Given the description of an element on the screen output the (x, y) to click on. 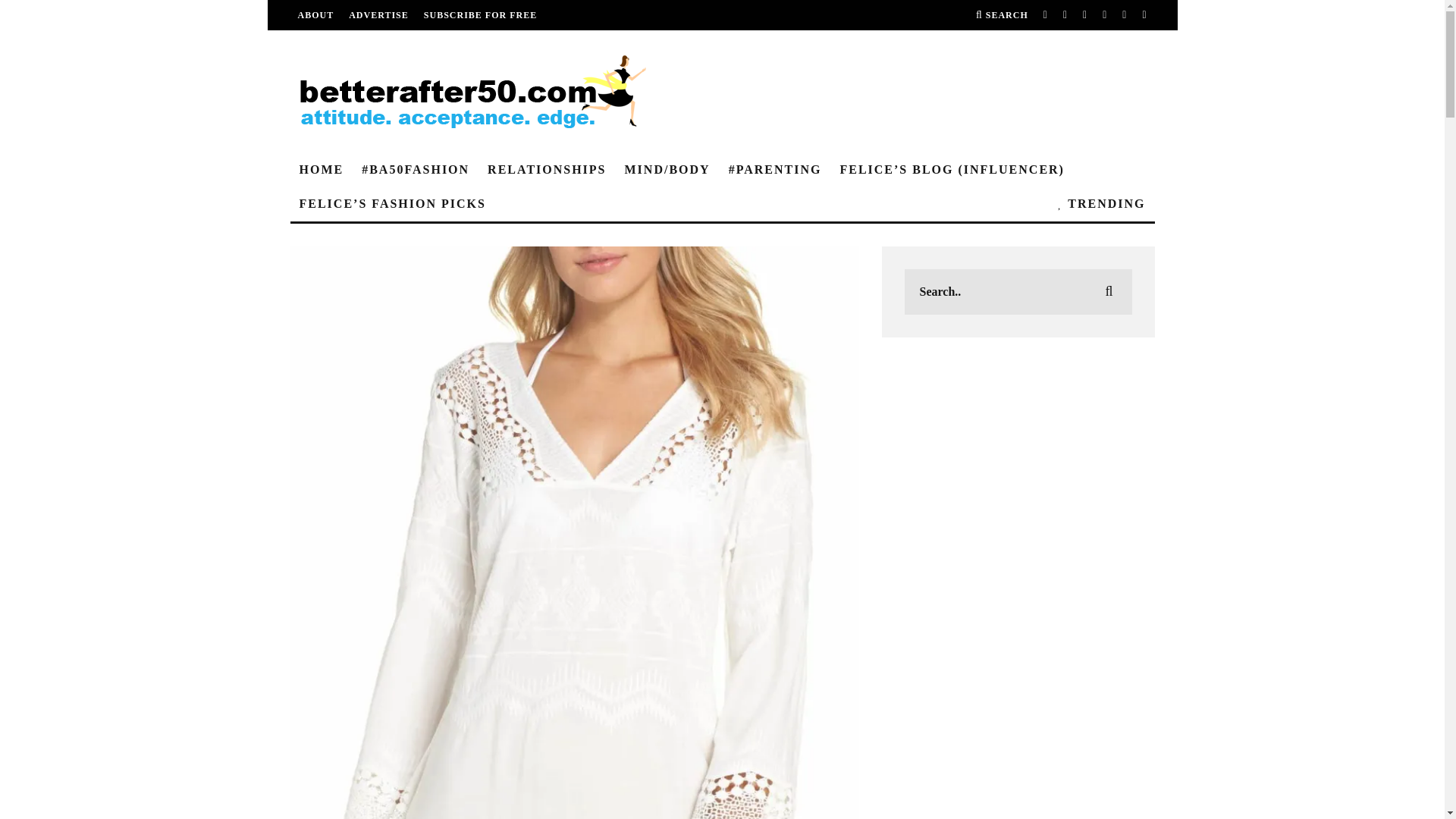
SUBSCRIBE FOR FREE (480, 15)
HOME (320, 170)
Search (1001, 15)
ADVERTISE (379, 15)
RELATIONSHIPS (546, 170)
ABOUT (315, 15)
SEARCH (1001, 15)
